Given the description of an element on the screen output the (x, y) to click on. 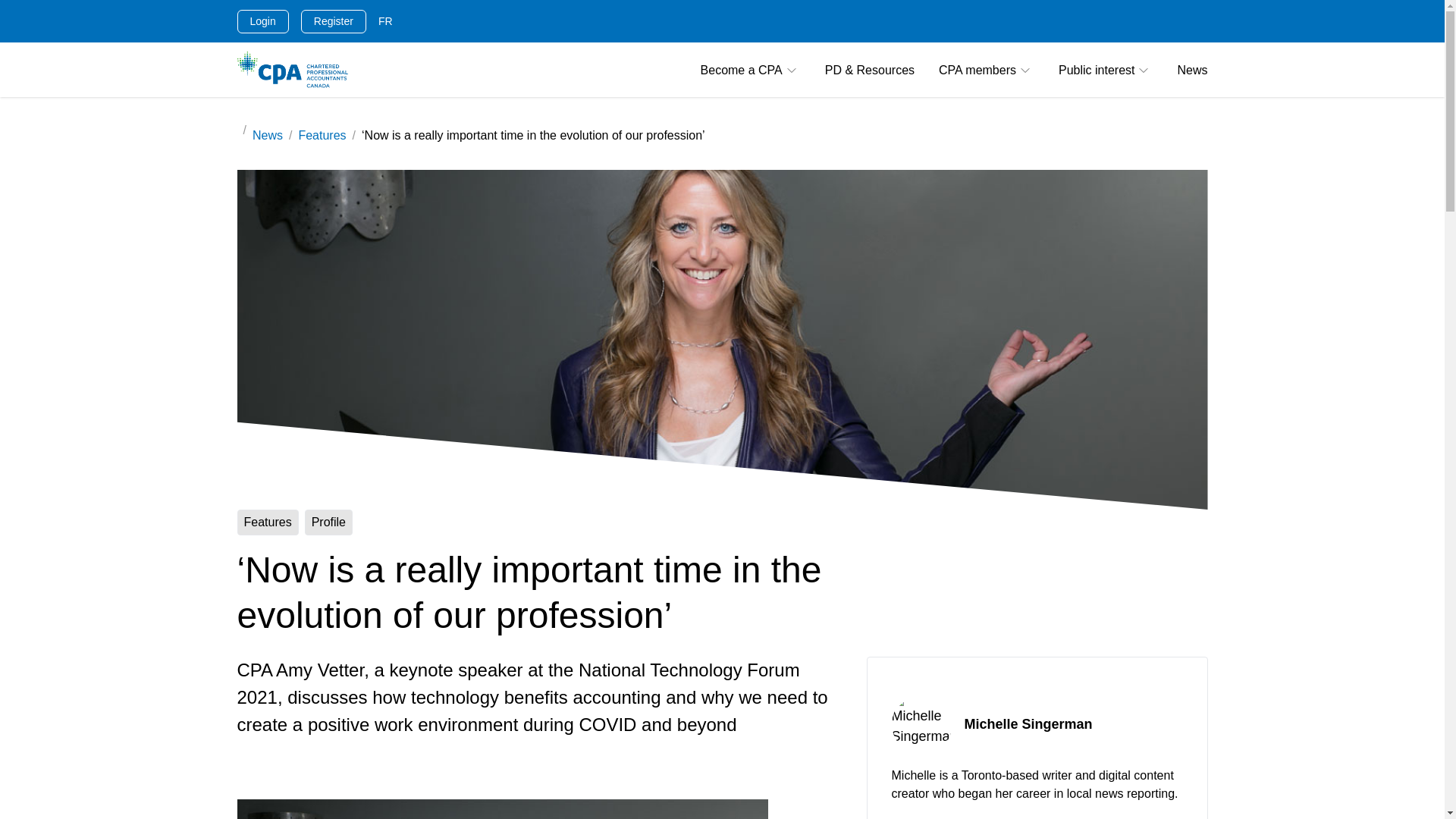
Public interest (1105, 69)
Login (261, 20)
CPA members (986, 69)
Features (322, 134)
News (1191, 69)
News (266, 134)
CPA (291, 69)
Become a CPA (750, 69)
FR (385, 21)
News (1191, 69)
